Given the description of an element on the screen output the (x, y) to click on. 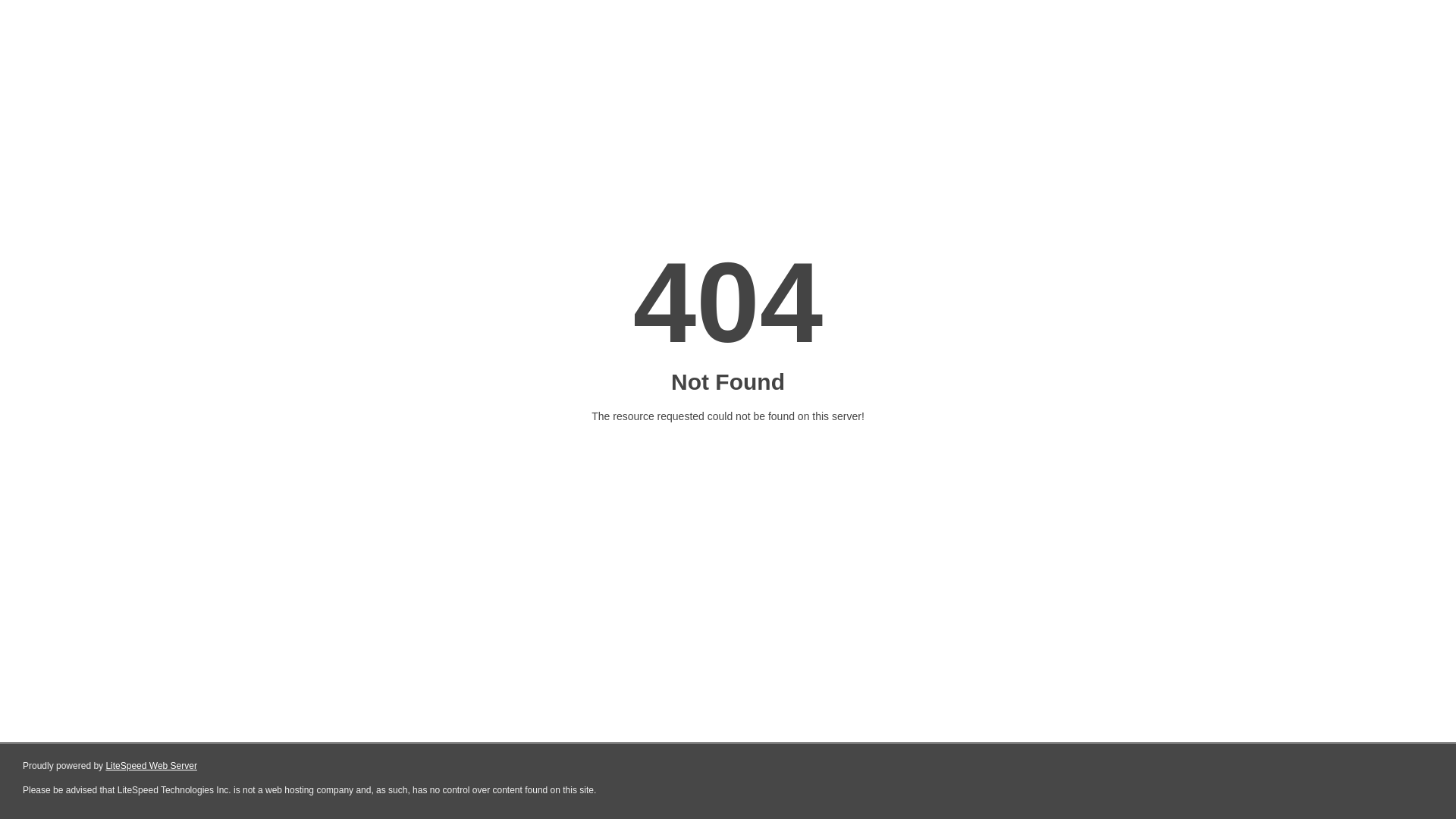
LiteSpeed Web Server Element type: text (151, 765)
